Given the description of an element on the screen output the (x, y) to click on. 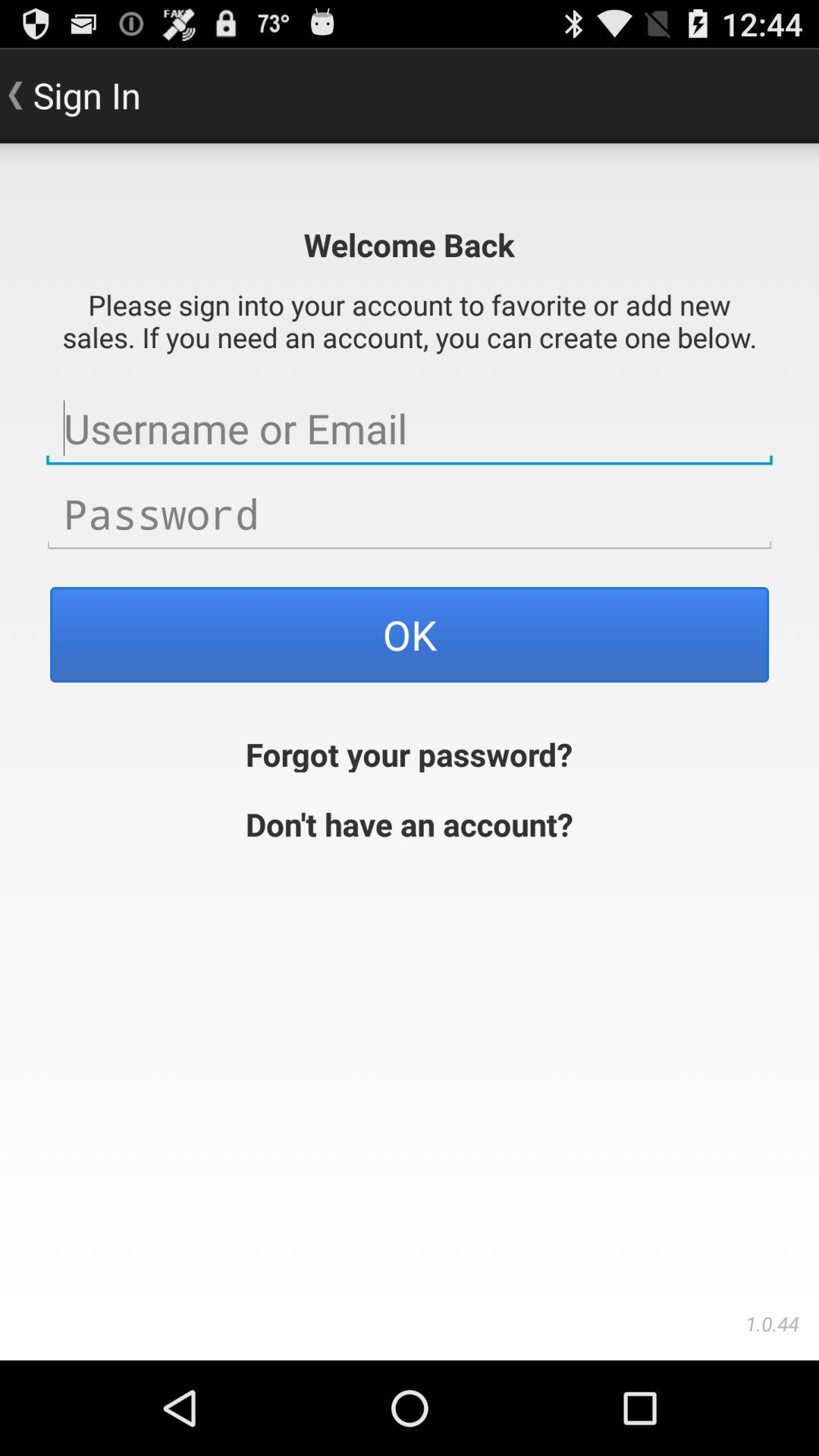
flip to ok (409, 634)
